Given the description of an element on the screen output the (x, y) to click on. 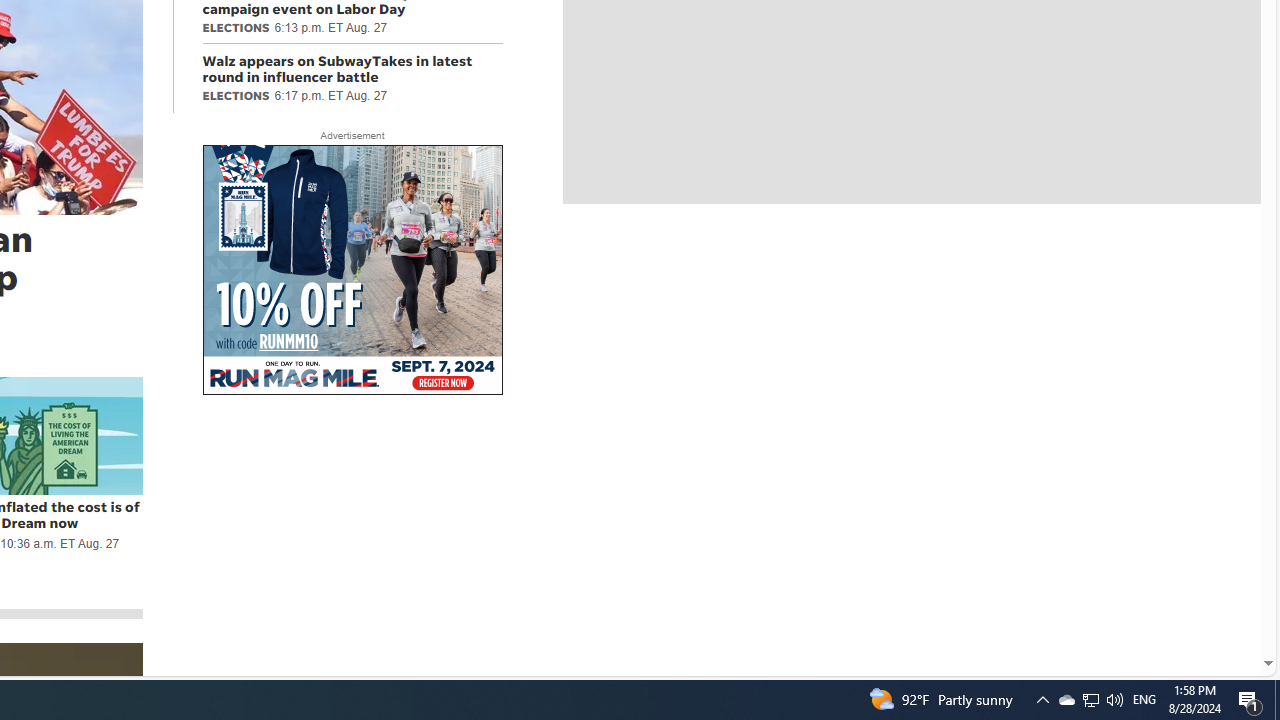
AutomationID: aw0 (352, 271)
